Given the description of an element on the screen output the (x, y) to click on. 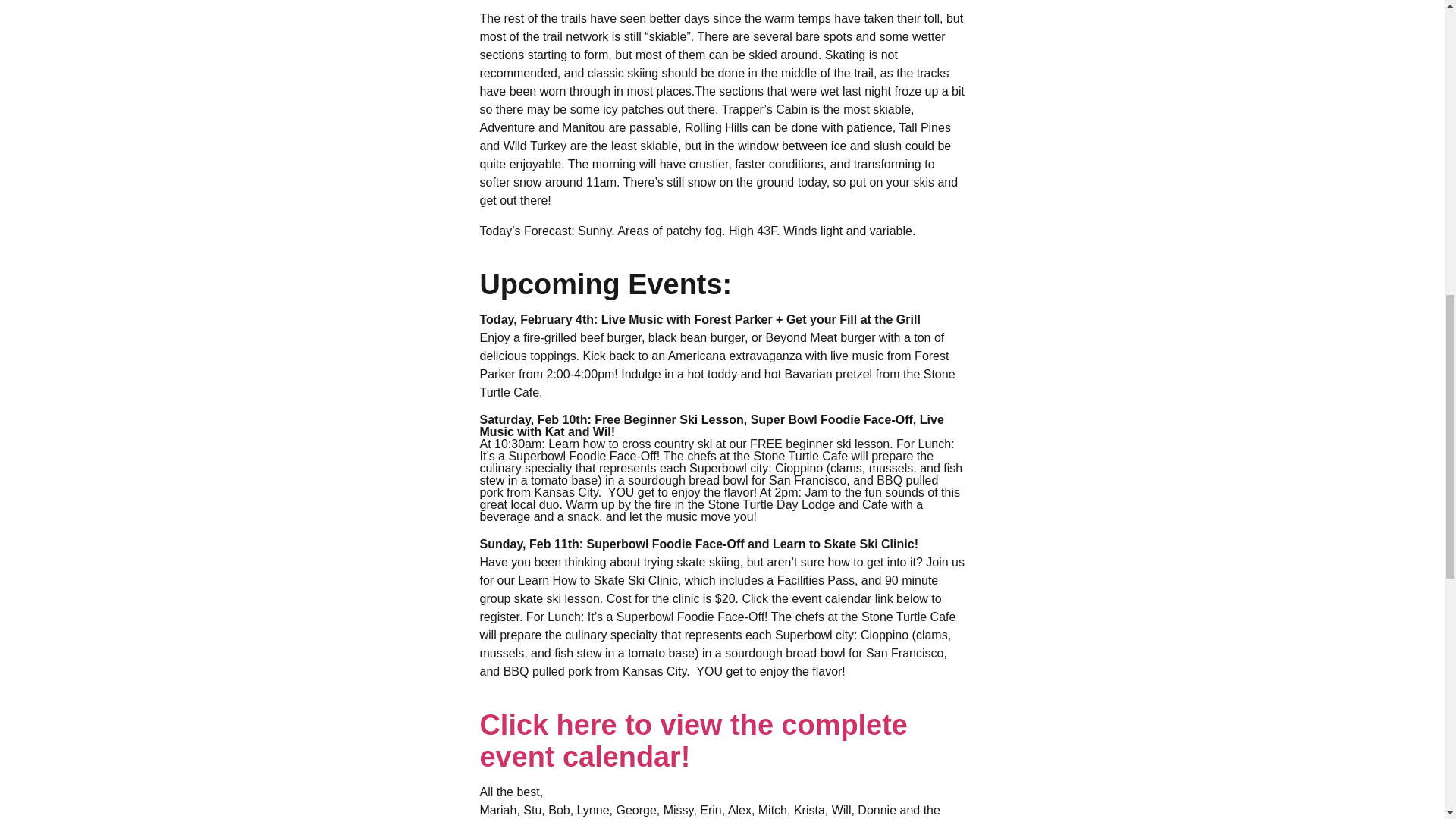
Click here to view the complete event calendar! (693, 741)
